Given the description of an element on the screen output the (x, y) to click on. 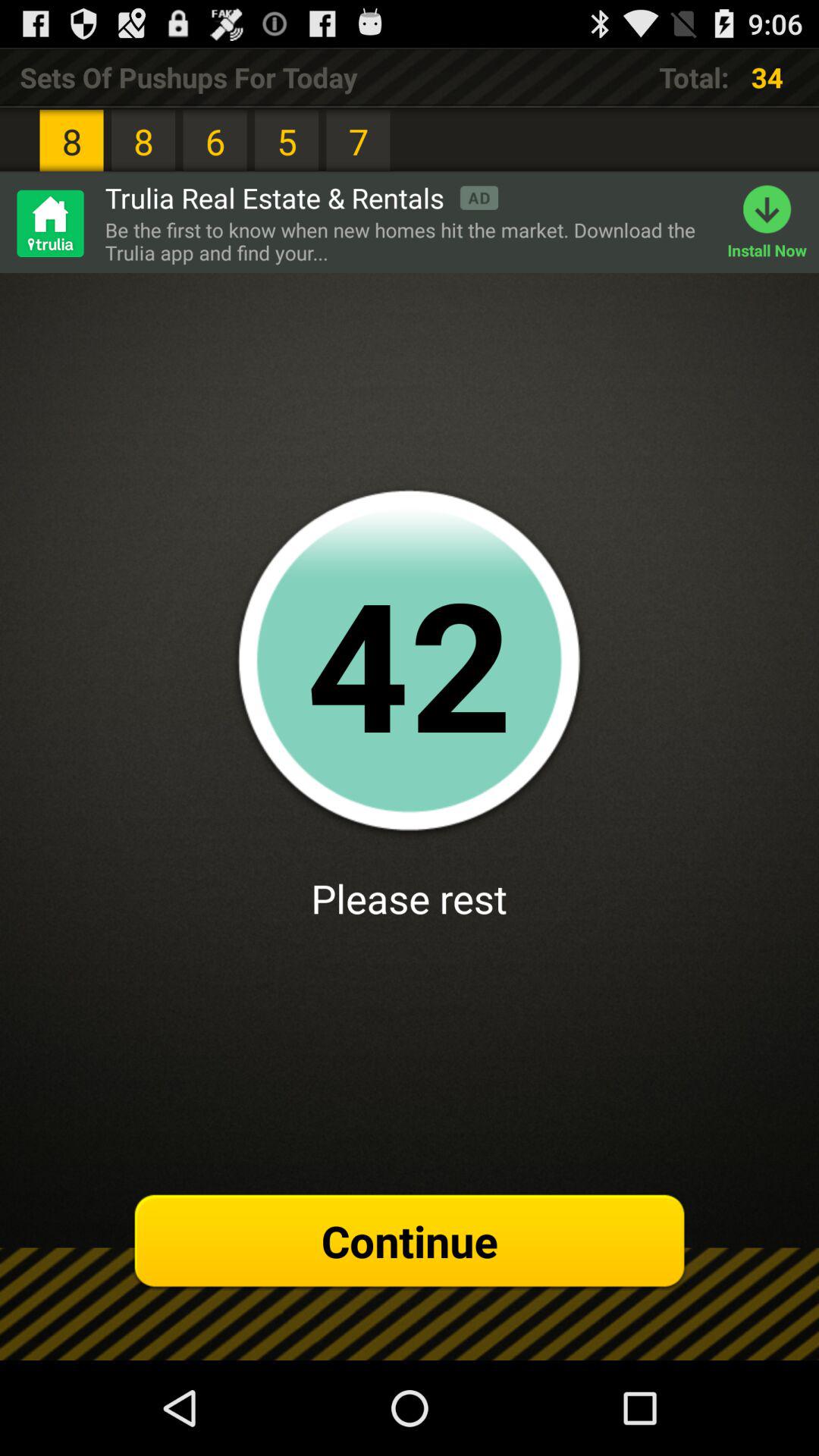
click to download advertisement (49, 222)
